Given the description of an element on the screen output the (x, y) to click on. 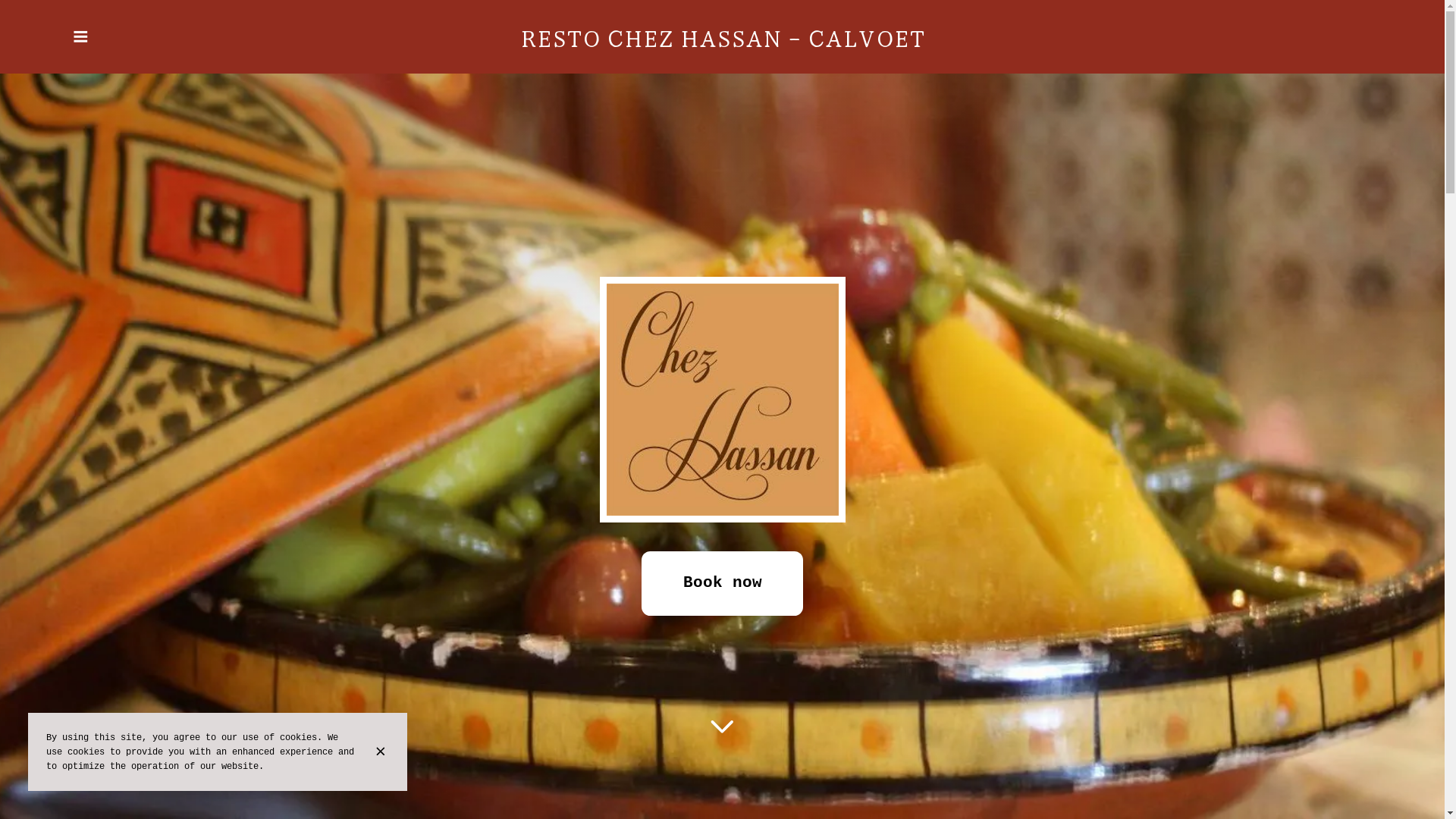
RESTO CHEZ HASSAN - CALVOET
RESTO CHEZ HASSAN - CALVOET Element type: text (721, 36)
Book now Element type: text (722, 583)
Close the cookie information banner Element type: hover (382, 751)
